Given the description of an element on the screen output the (x, y) to click on. 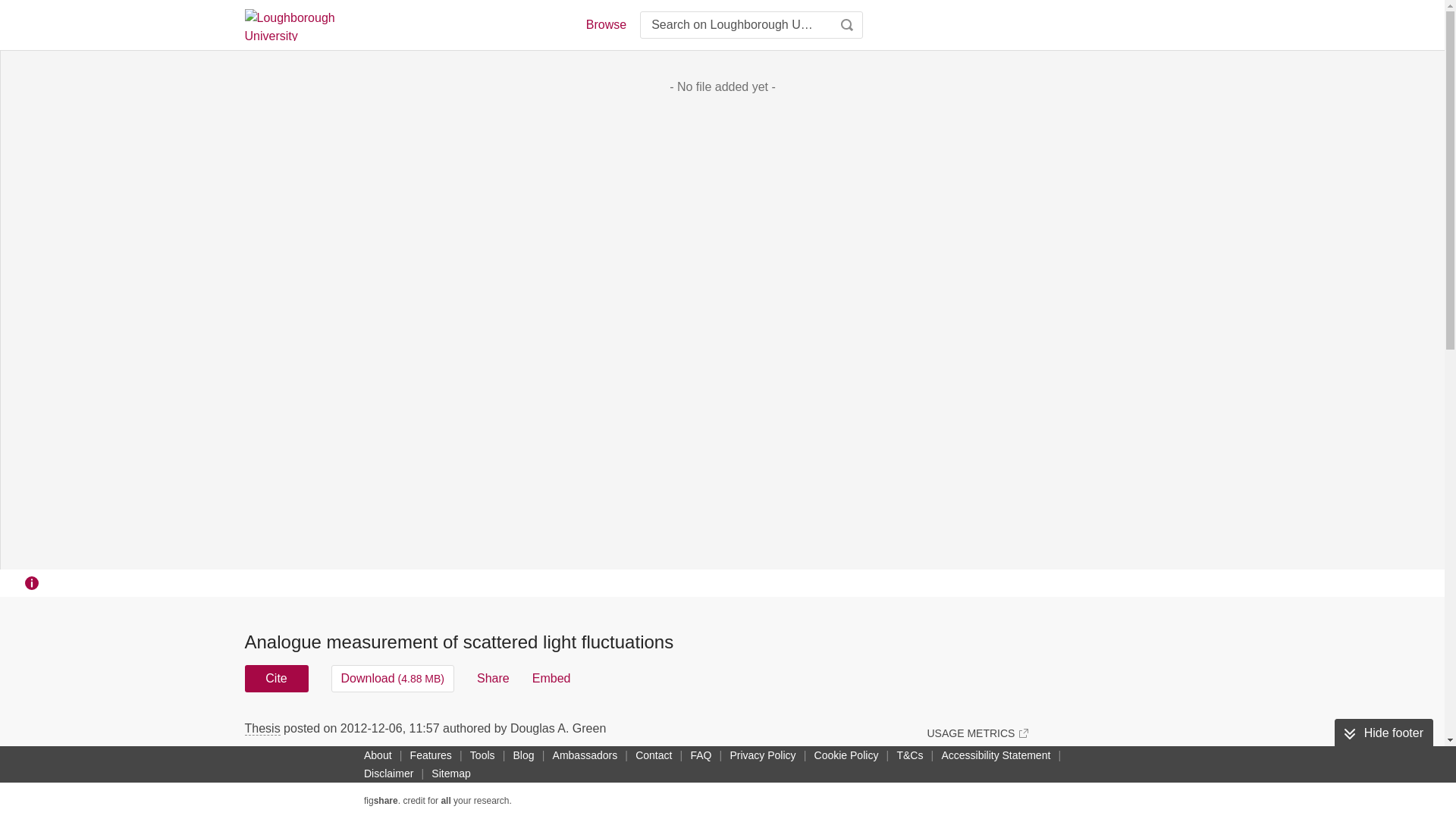
Tools (482, 755)
USAGE METRICS (976, 732)
Cookie Policy (846, 755)
Disclaimer (388, 773)
Share (493, 678)
Contact (653, 755)
Browse (605, 24)
Blog (523, 755)
About (377, 755)
Sitemap (450, 773)
